Given the description of an element on the screen output the (x, y) to click on. 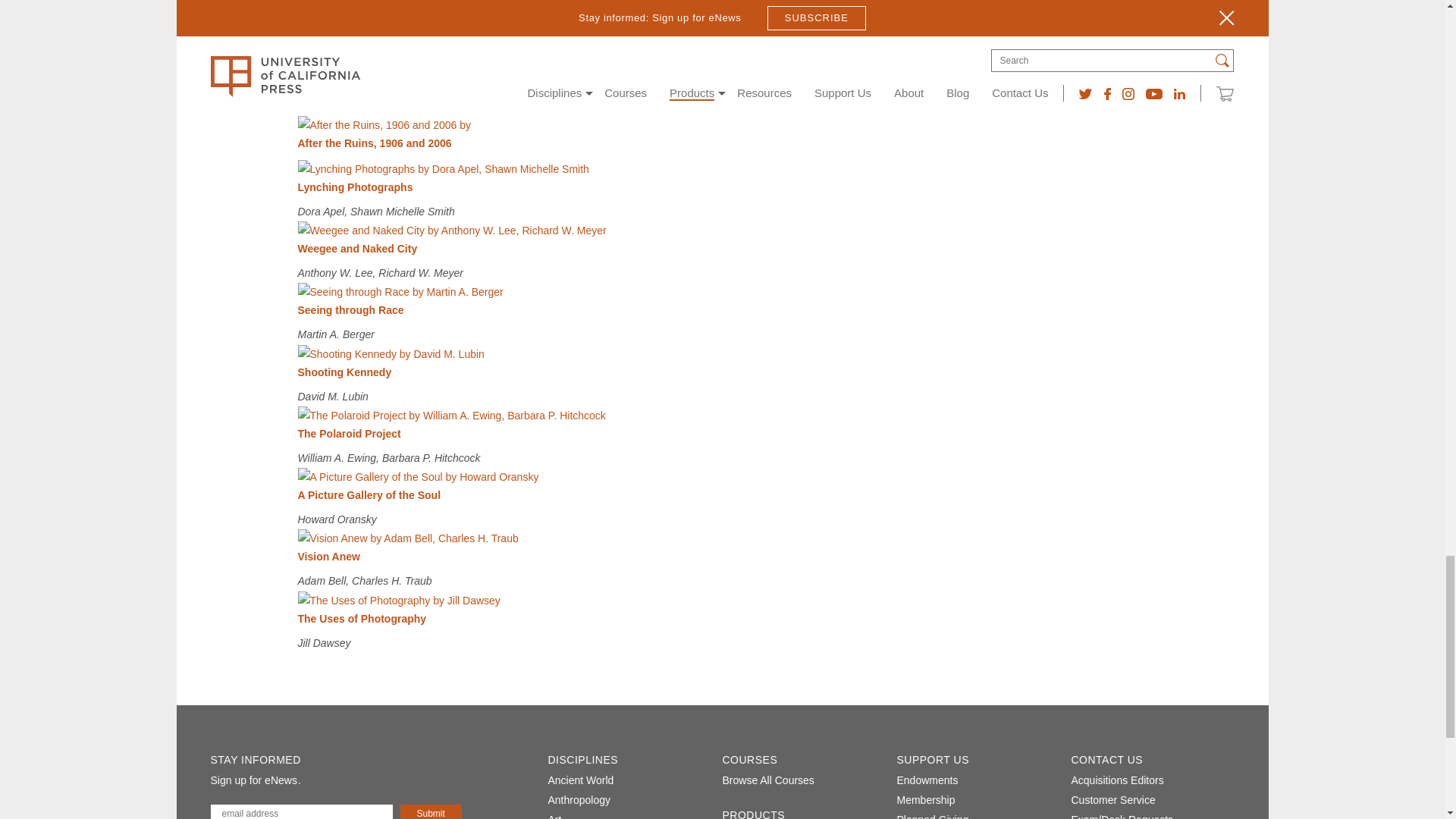
Submit (430, 811)
